Given the description of an element on the screen output the (x, y) to click on. 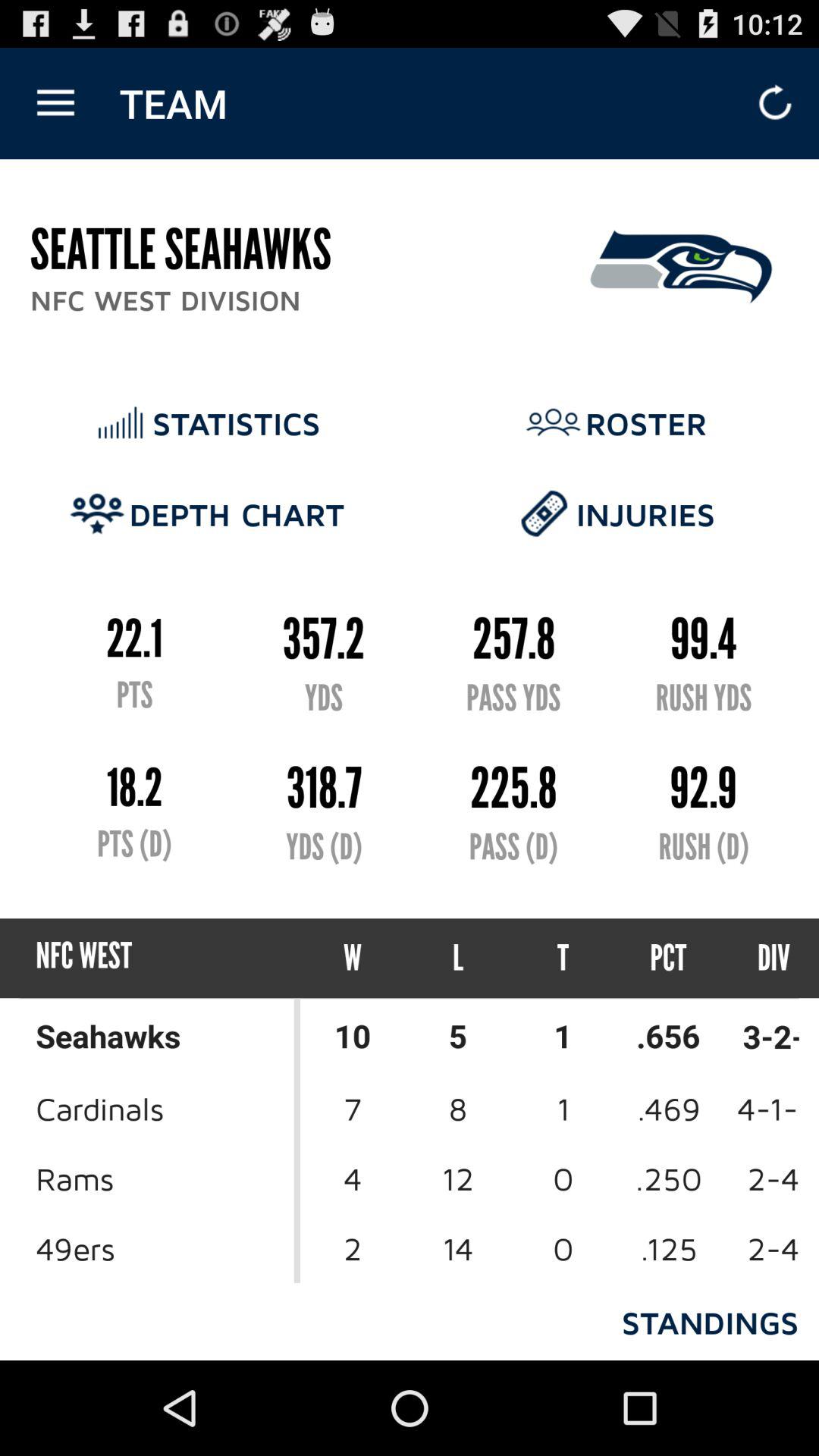
turn off the pct (668, 958)
